Given the description of an element on the screen output the (x, y) to click on. 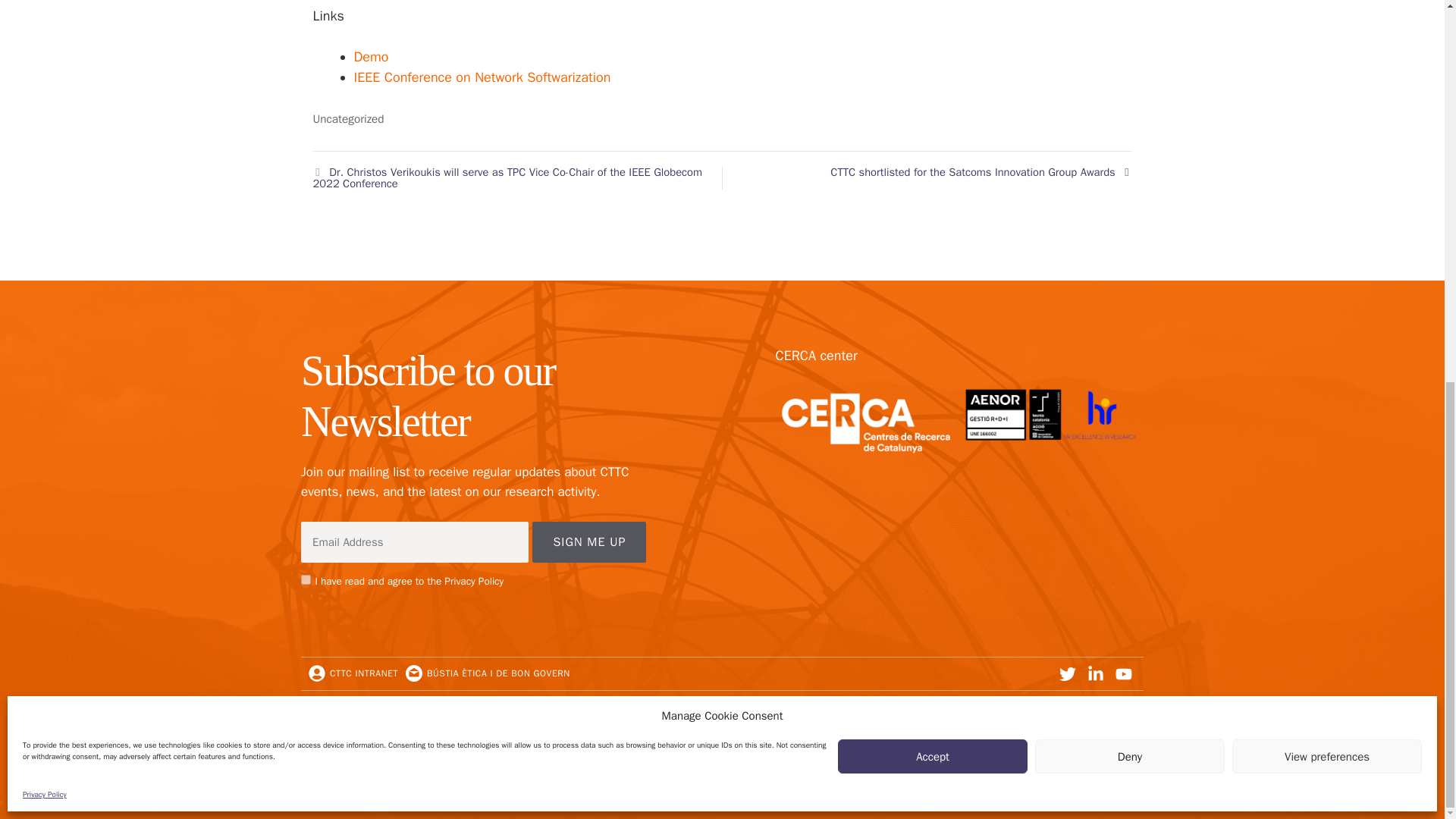
View preferences (1326, 41)
1 (306, 579)
Accept (932, 41)
SIGN ME UP (589, 541)
Deny (1129, 41)
Privacy Policy (44, 79)
